Given the description of an element on the screen output the (x, y) to click on. 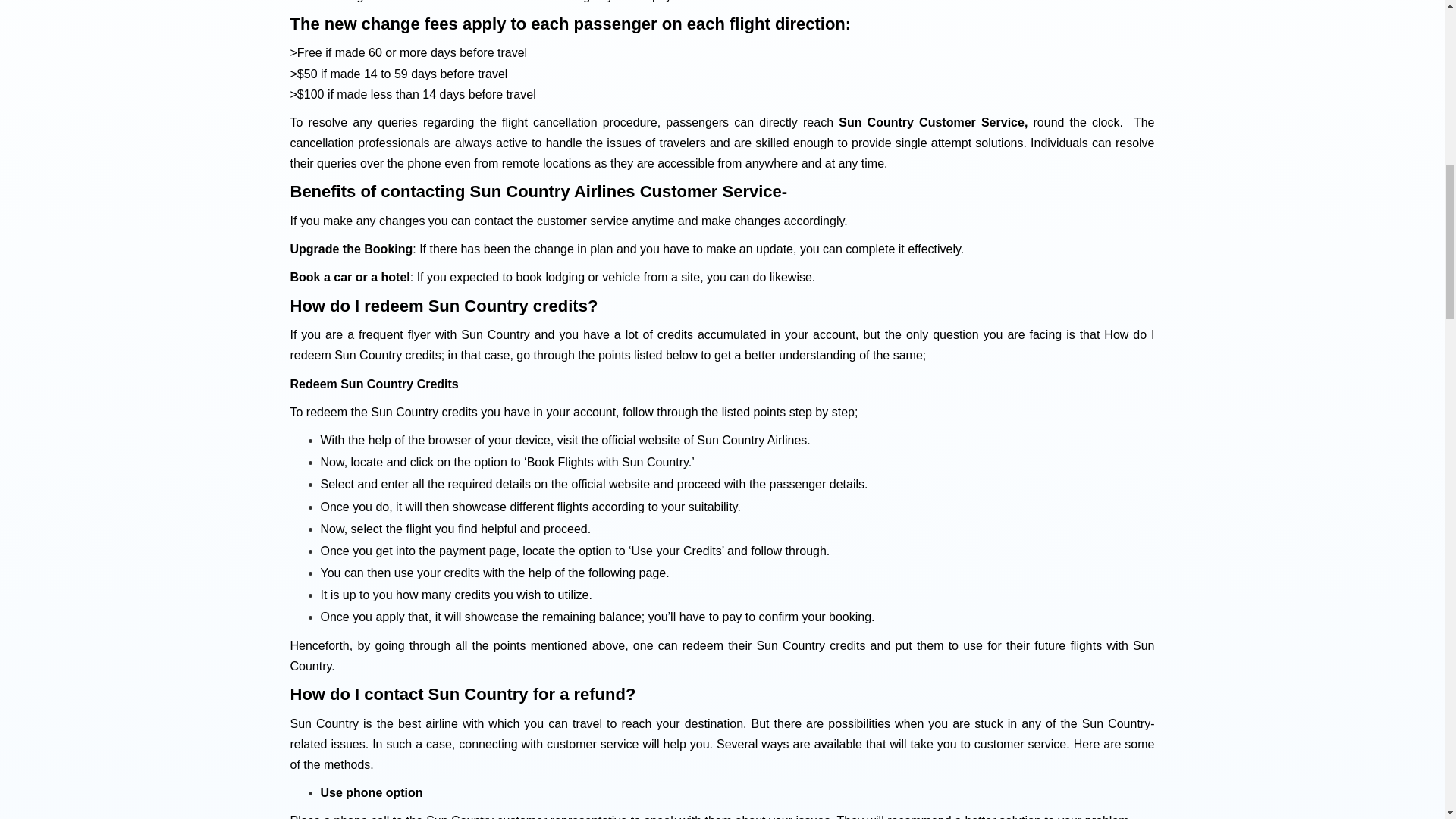
Sun Country Customer Service (931, 122)
